Given the description of an element on the screen output the (x, y) to click on. 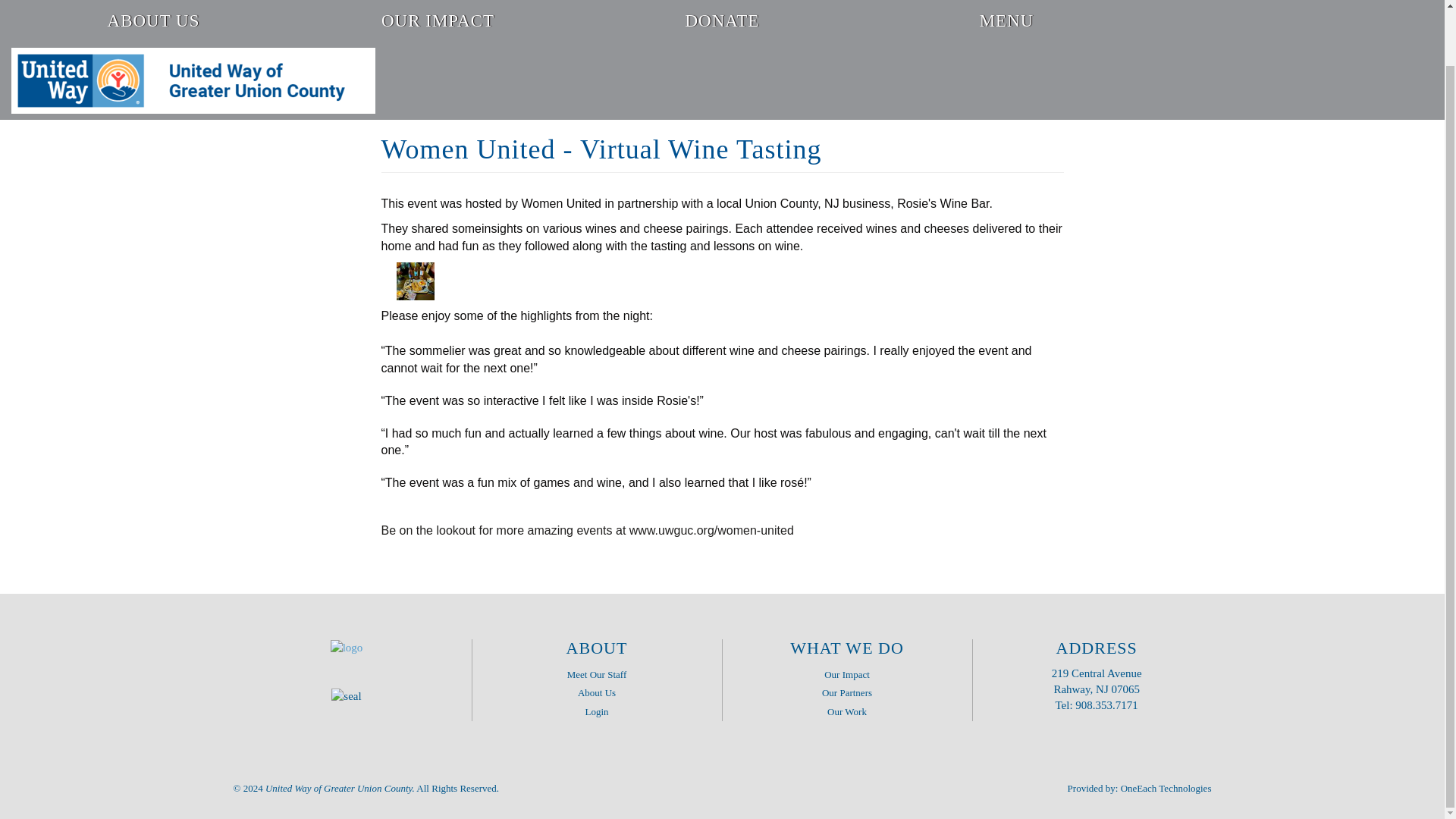
Home (193, 80)
OUR IMPACT (437, 20)
DONATE (721, 20)
ABOUT US (153, 20)
